Given the description of an element on the screen output the (x, y) to click on. 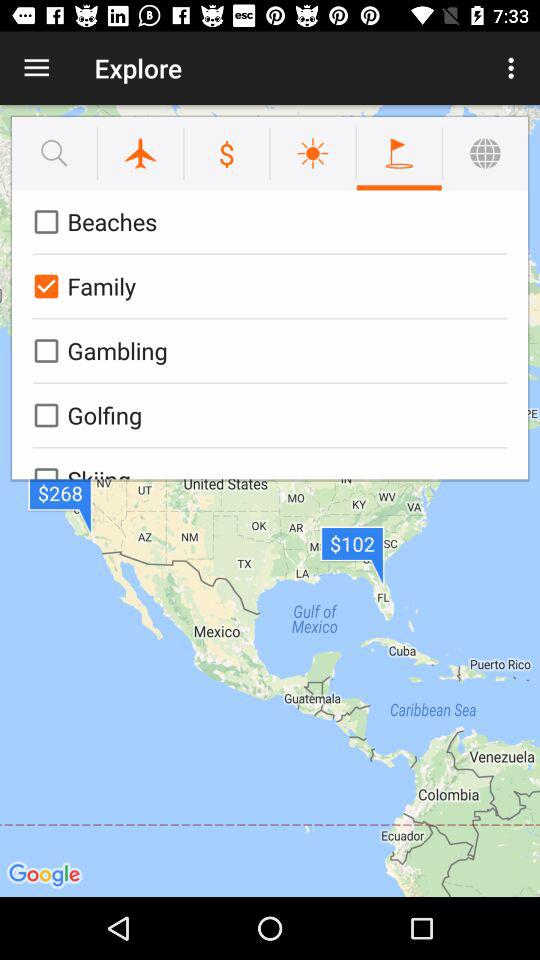
turn on the family icon (266, 286)
